Given the description of an element on the screen output the (x, y) to click on. 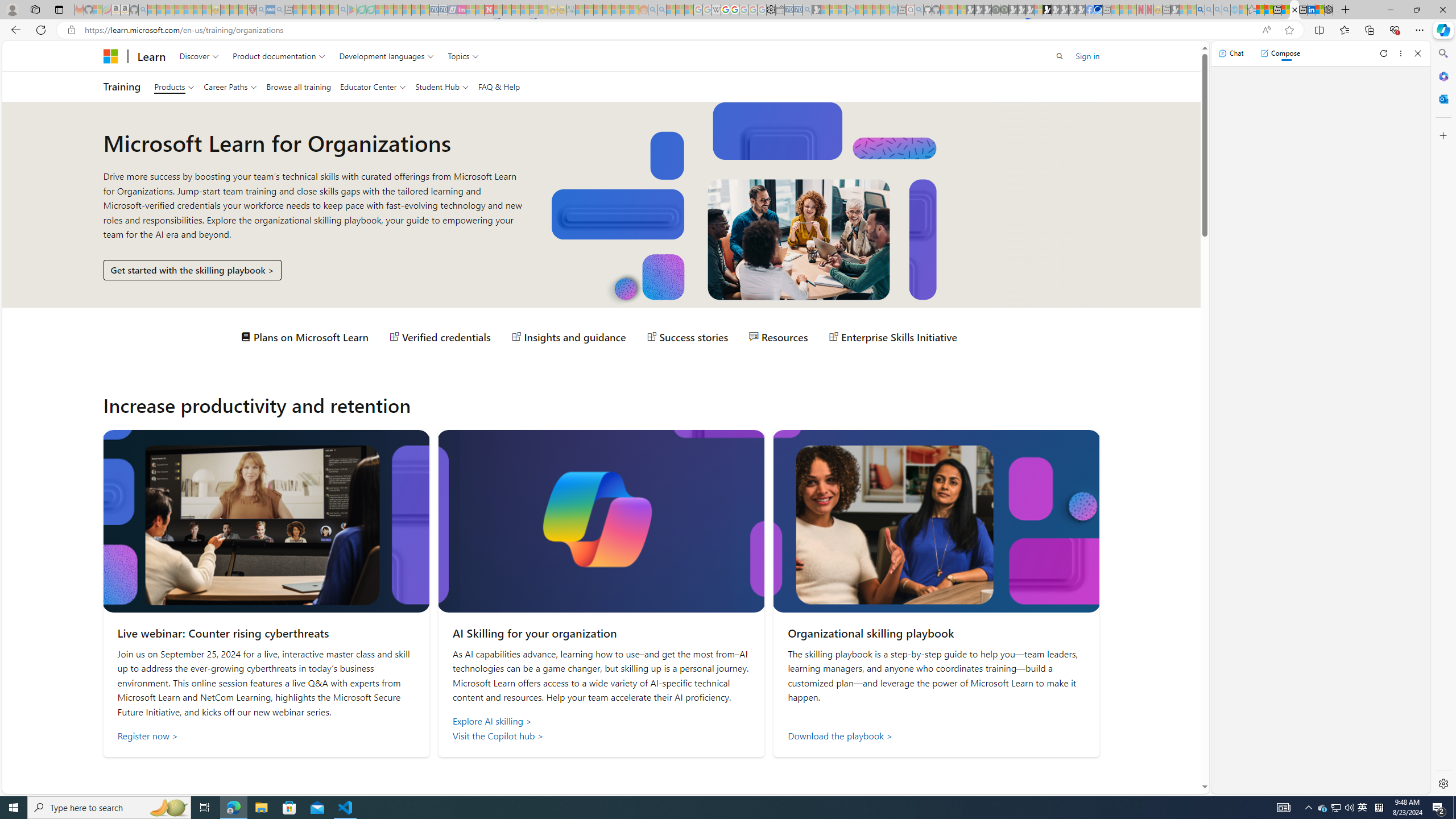
MSNBC - MSN - Sleeping (579, 9)
Recipes - MSN - Sleeping (224, 9)
Local - MSN - Sleeping (242, 9)
Development languages (386, 55)
Terms of Use Agreement - Sleeping (361, 9)
Explore AI skilling > (601, 720)
